Given the description of an element on the screen output the (x, y) to click on. 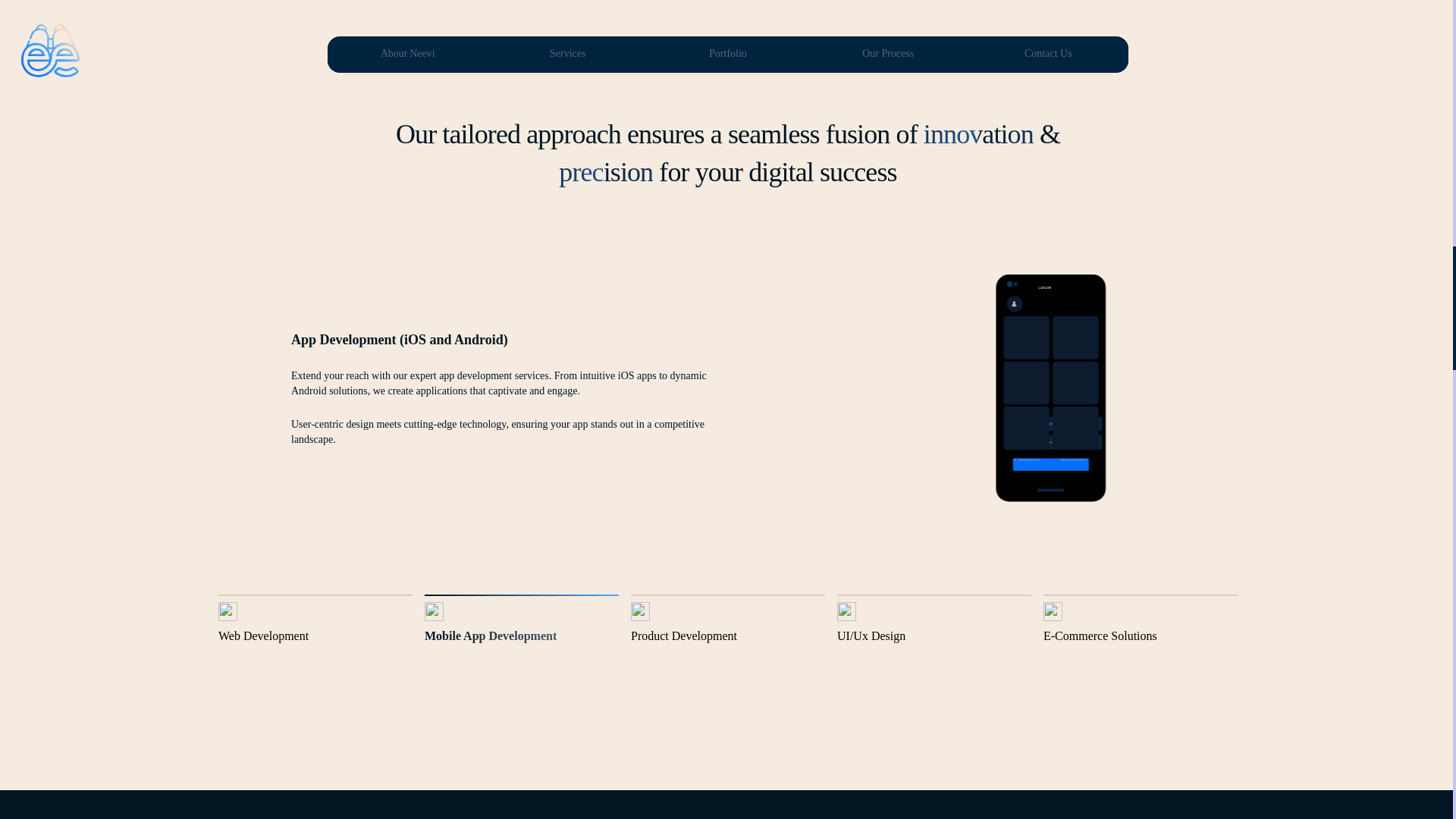
Mobile App Development (521, 619)
Product Development (727, 619)
Web Development (315, 619)
E-Commerce Solutions (1140, 619)
